Given the description of an element on the screen output the (x, y) to click on. 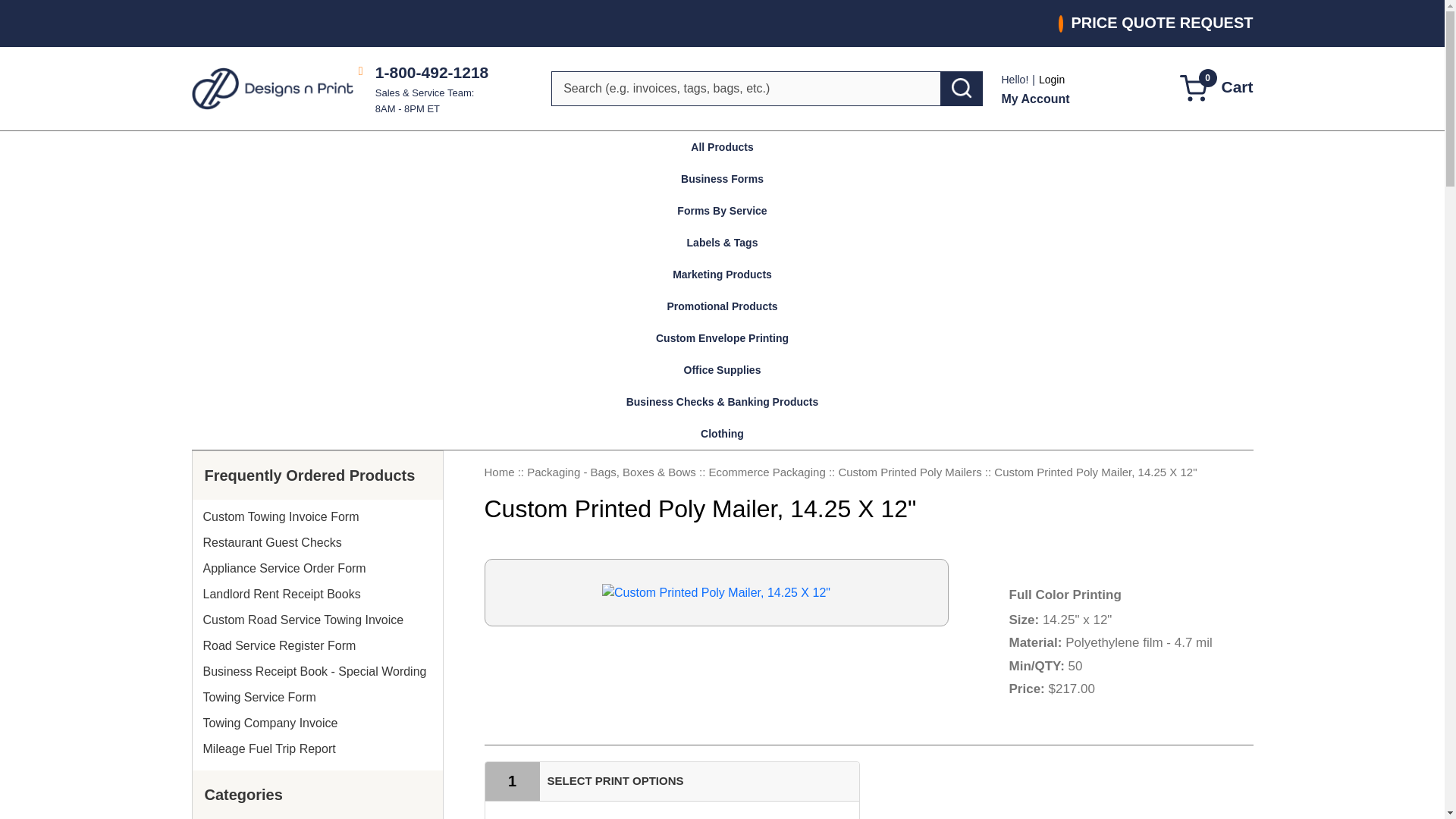
Restaurant Guest Checks (316, 542)
PRICE QUOTE REQUEST (1155, 23)
Mileage Fuel Trip Report (316, 749)
Appliance Service Order Form (316, 568)
Search (962, 87)
Custom Road Service Towing Invoice (316, 619)
Towing Service Form (1193, 88)
Towing Company Invoice (316, 697)
My Account (316, 723)
